Given the description of an element on the screen output the (x, y) to click on. 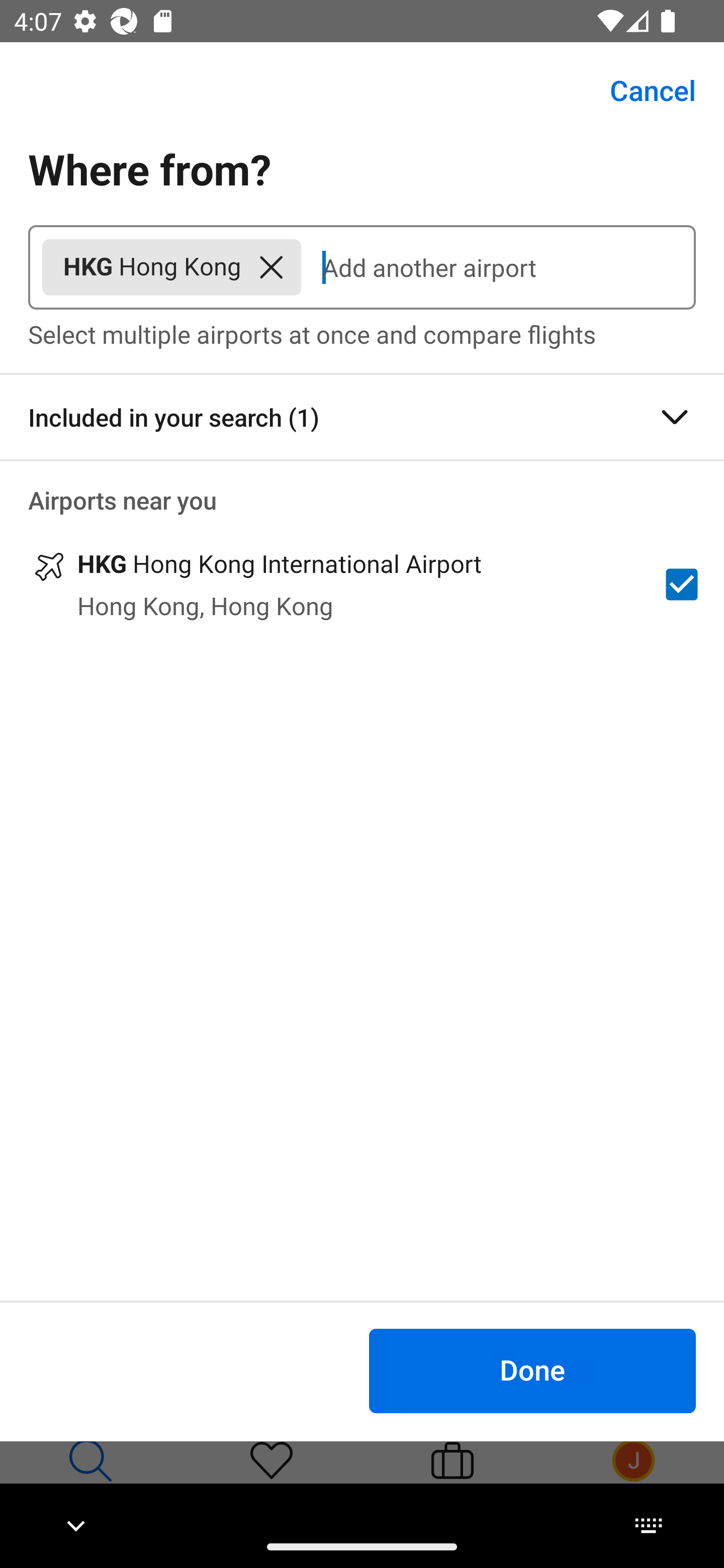
Cancel (641, 90)
Add another airport (498, 266)
HKG Hong Kong Remove HKG Hong Kong (171, 266)
Included in your search (1) (362, 416)
Done (532, 1370)
